Given the description of an element on the screen output the (x, y) to click on. 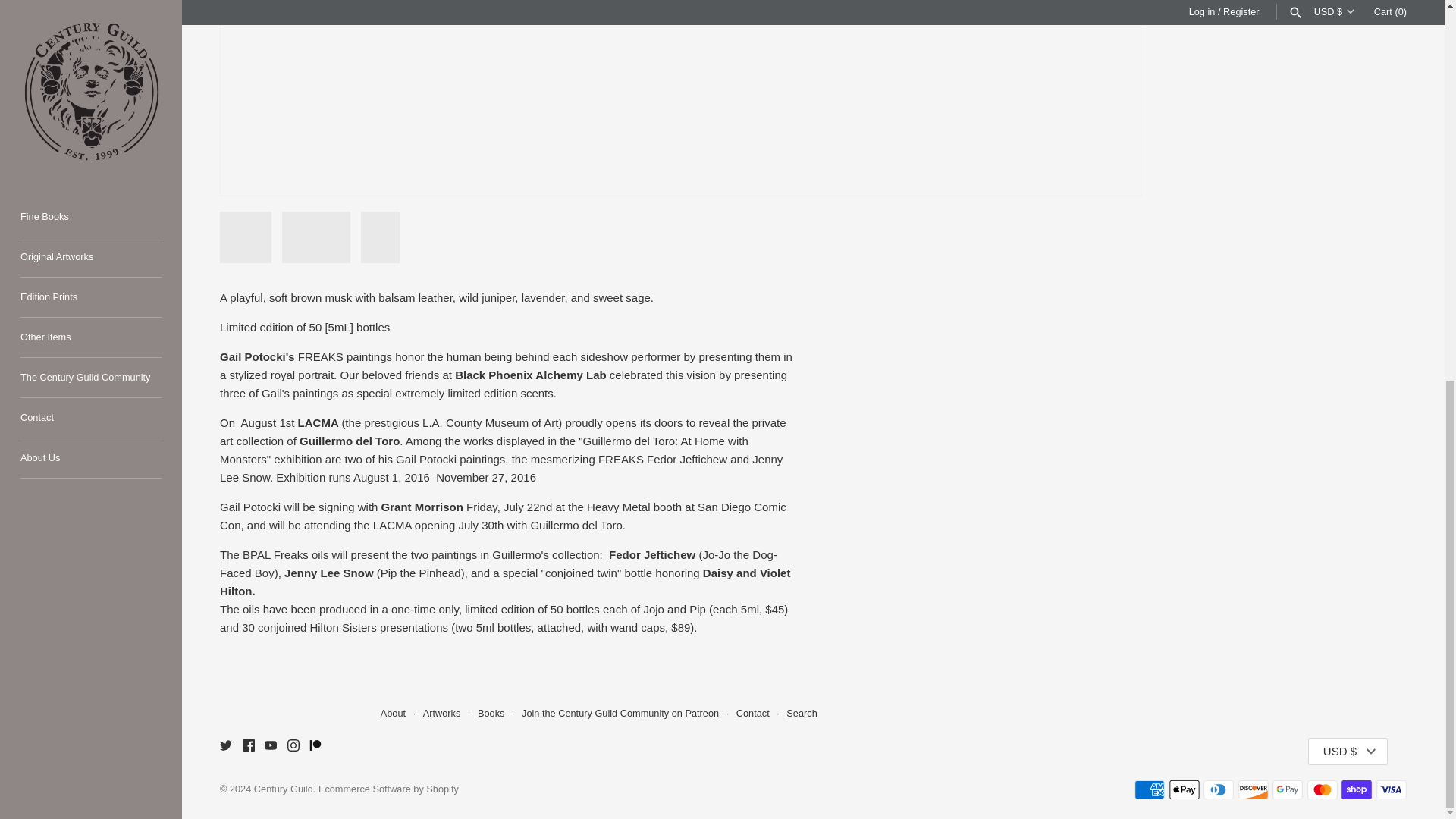
Diners Club (1218, 789)
Google Pay (1287, 789)
Youtube (270, 745)
Apple Pay (1184, 789)
Mastercard (1322, 789)
Discover (1253, 789)
Twitter (225, 745)
Visa (1390, 789)
Instagram (292, 745)
American Express (1149, 789)
